Given the description of an element on the screen output the (x, y) to click on. 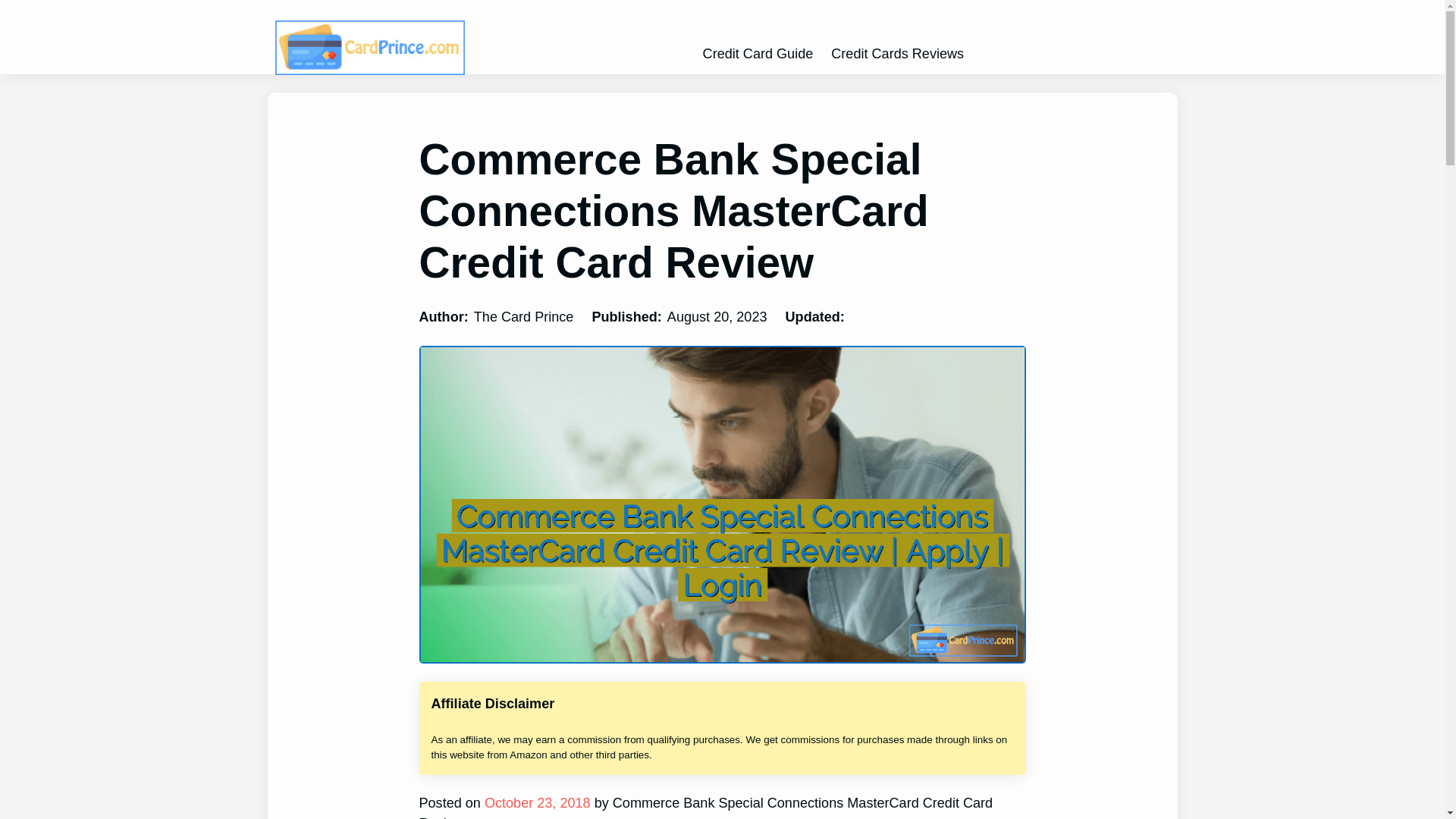
October 23, 2018 (535, 802)
Credit Cards Reviews (897, 53)
Credit Card Guide (758, 53)
